Given the description of an element on the screen output the (x, y) to click on. 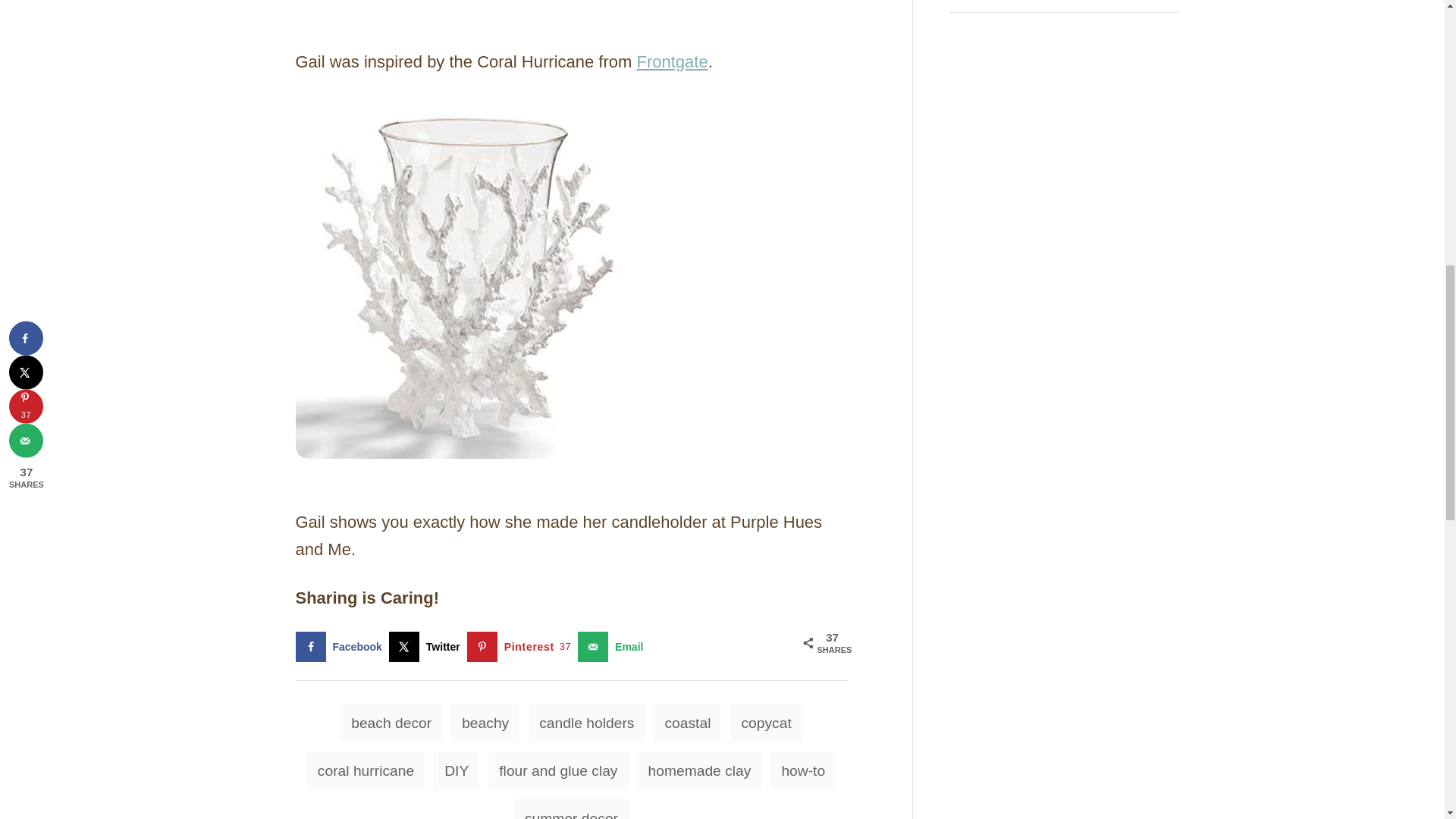
Share on X (427, 646)
coral hurricane (469, 279)
Save to Pinterest (522, 646)
Share on Facebook (341, 646)
Send over email (613, 646)
